Given the description of an element on the screen output the (x, y) to click on. 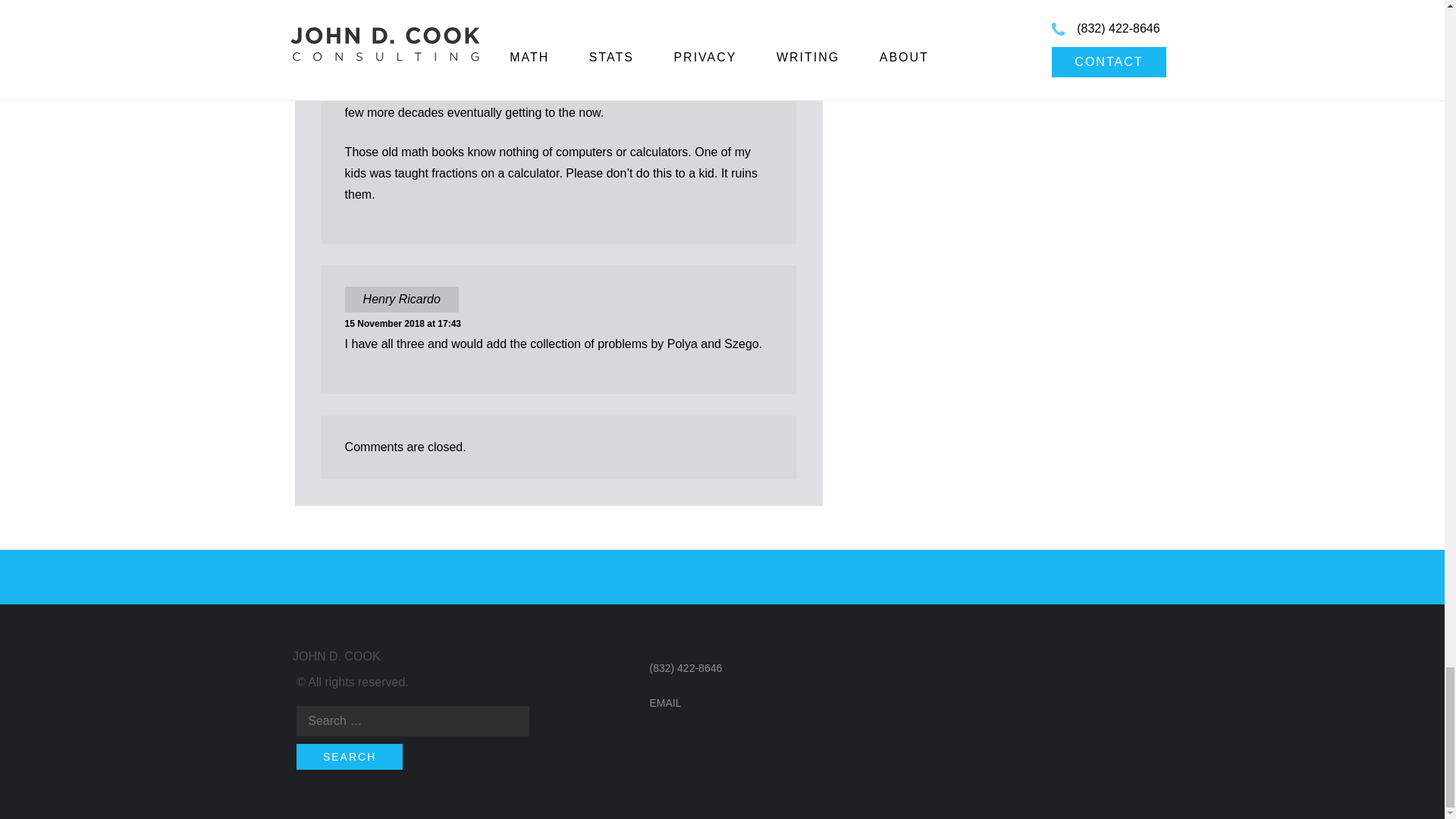
Search (350, 756)
Search for: (413, 720)
Search (350, 756)
